Given the description of an element on the screen output the (x, y) to click on. 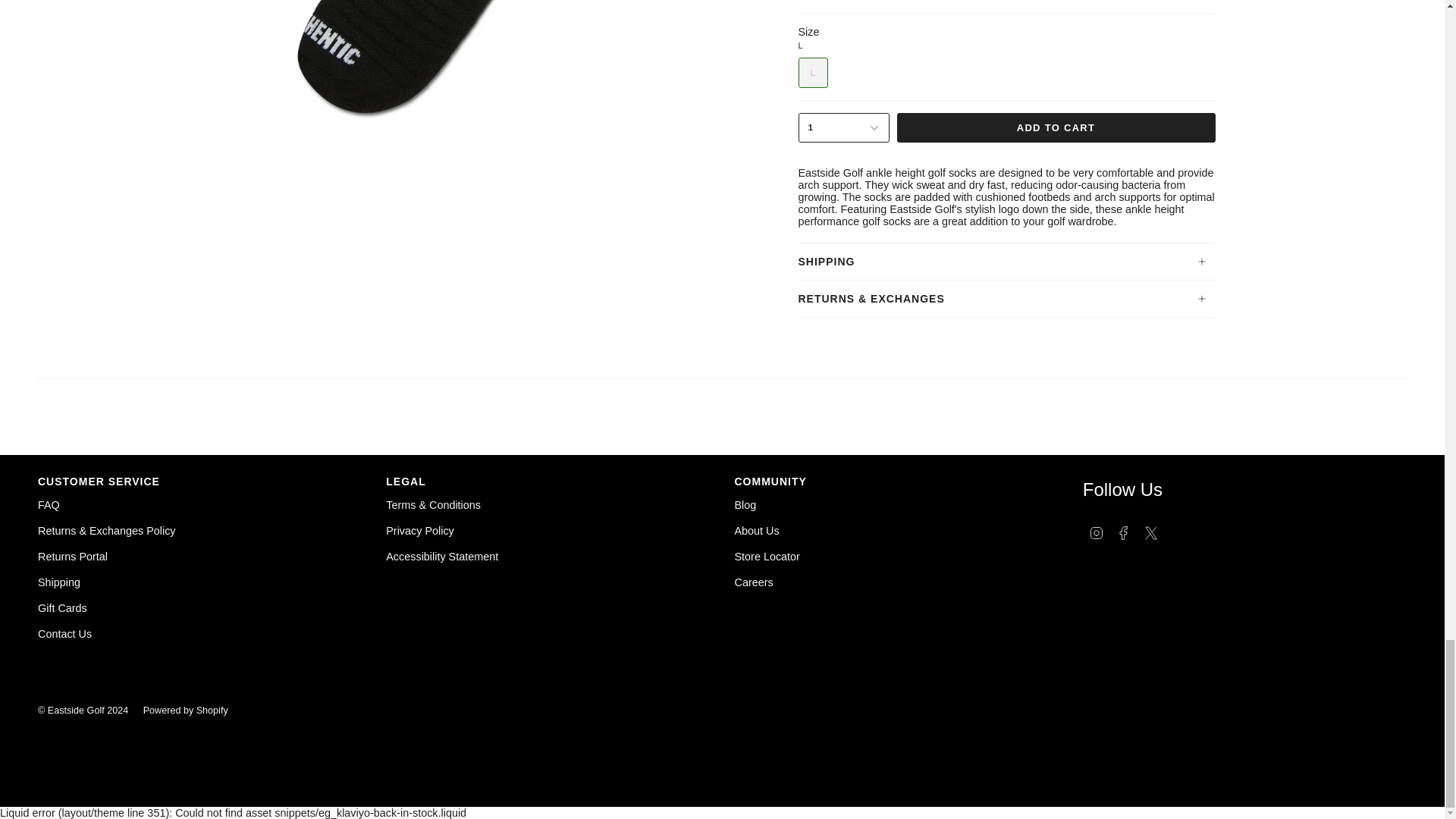
Eastside Golf on Facebook (1123, 532)
Eastside Golf on Instagram (1096, 532)
Eastside Golf on Twitter (1150, 532)
